Given the description of an element on the screen output the (x, y) to click on. 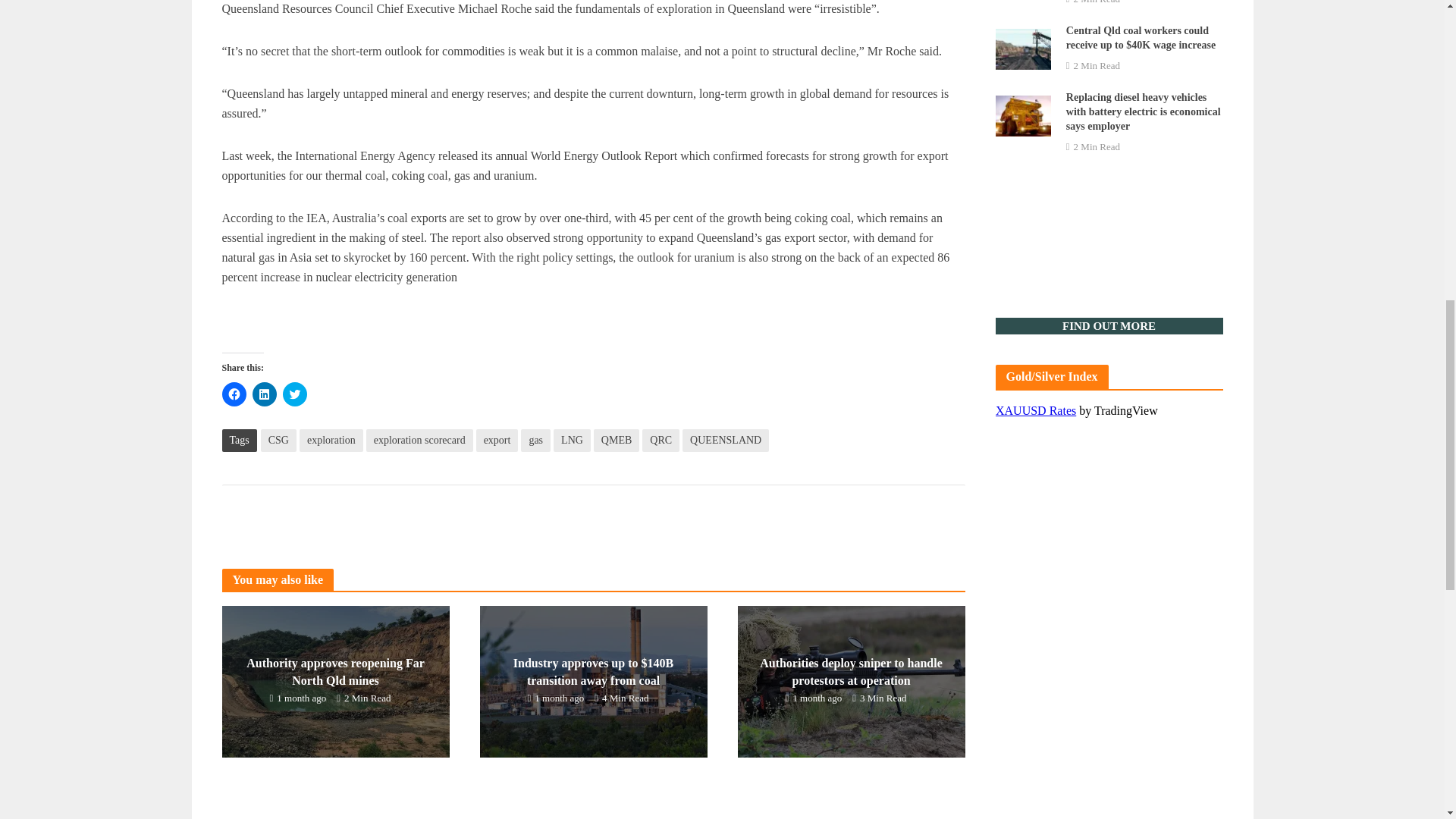
Authority approves reopening Far North Qld mines (334, 680)
Click to share on Facebook (233, 394)
Click to share on Twitter (293, 394)
Authorities deploy sniper to handle protestors at operation (849, 680)
Click to share on LinkedIn (263, 394)
